Given the description of an element on the screen output the (x, y) to click on. 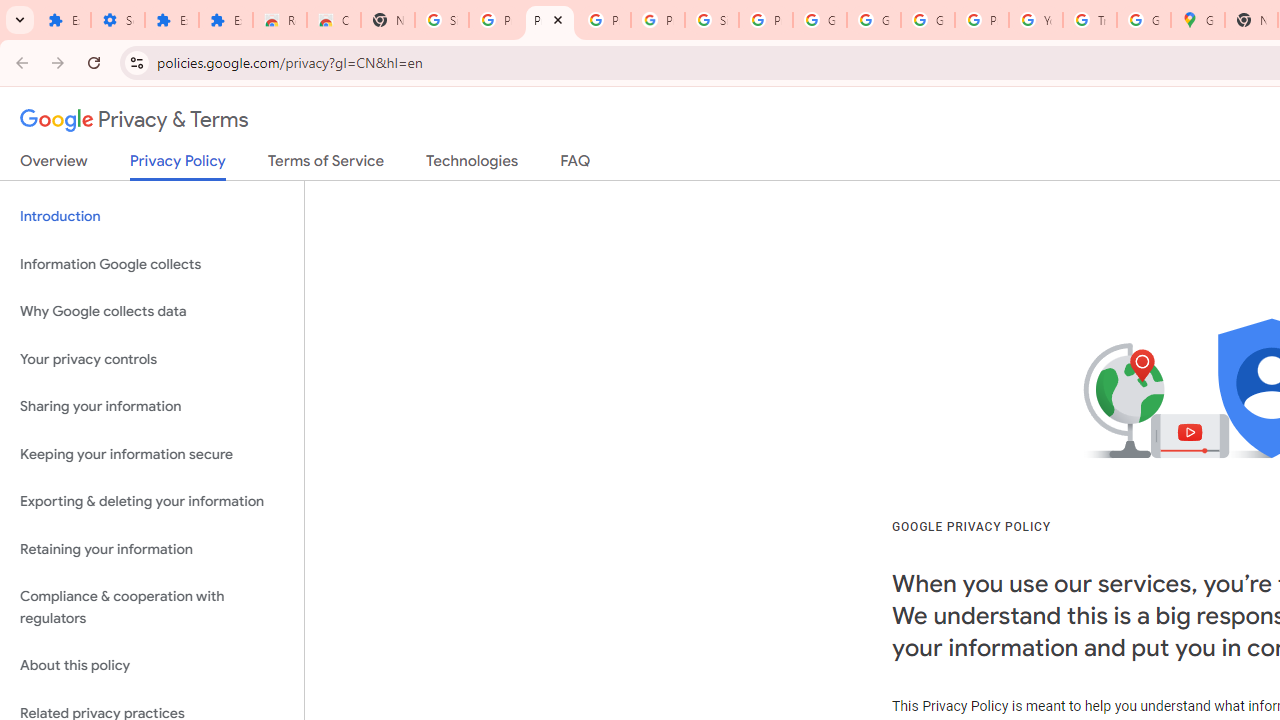
Technologies (472, 165)
Compliance & cooperation with regulators (152, 607)
YouTube (1035, 20)
Why Google collects data (152, 312)
Sign in - Google Accounts (711, 20)
Introduction (152, 216)
Your privacy controls (152, 358)
Information Google collects (152, 263)
Sign in - Google Accounts (441, 20)
